Given the description of an element on the screen output the (x, y) to click on. 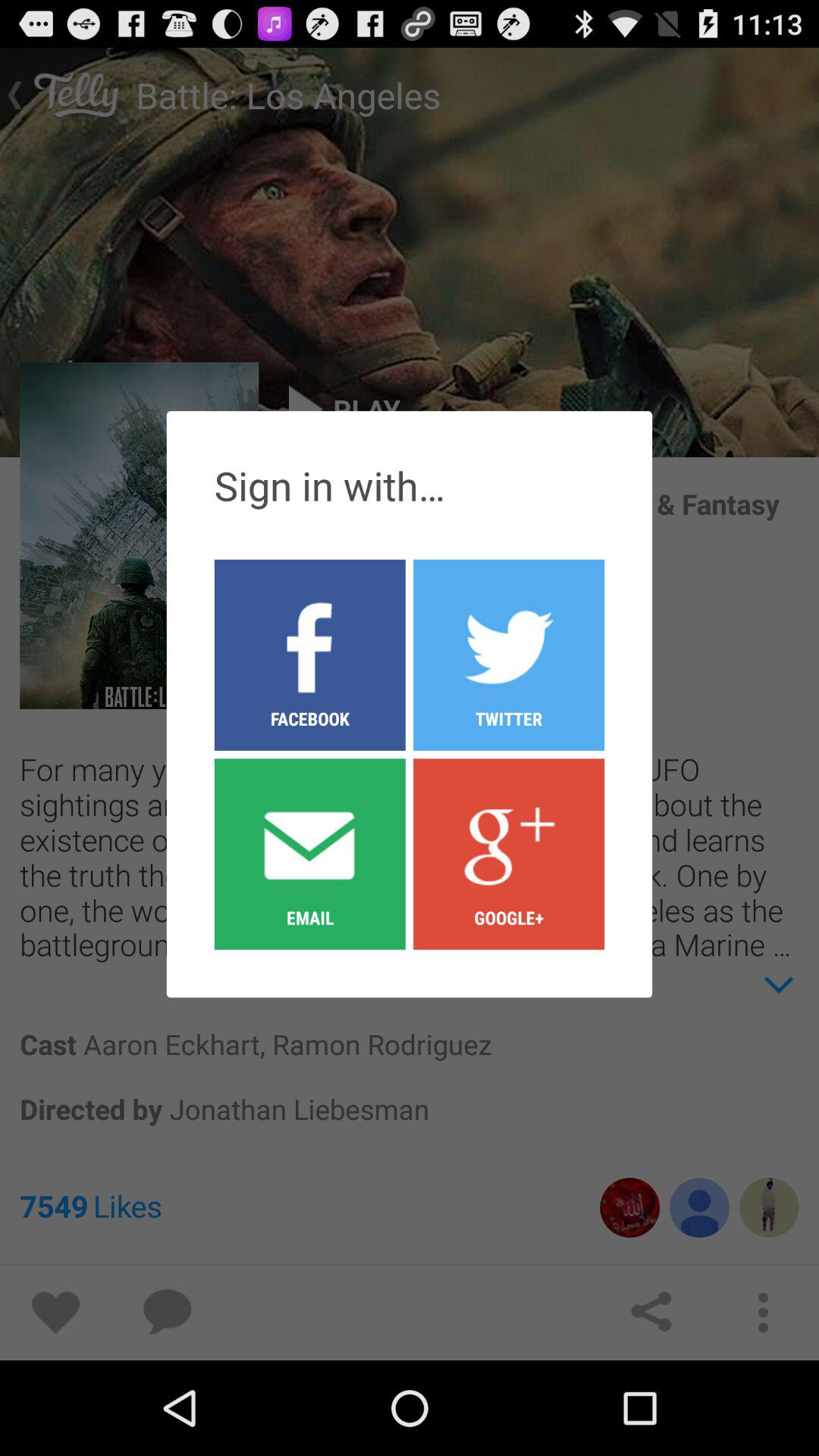
press icon below the facebook (508, 853)
